Given the description of an element on the screen output the (x, y) to click on. 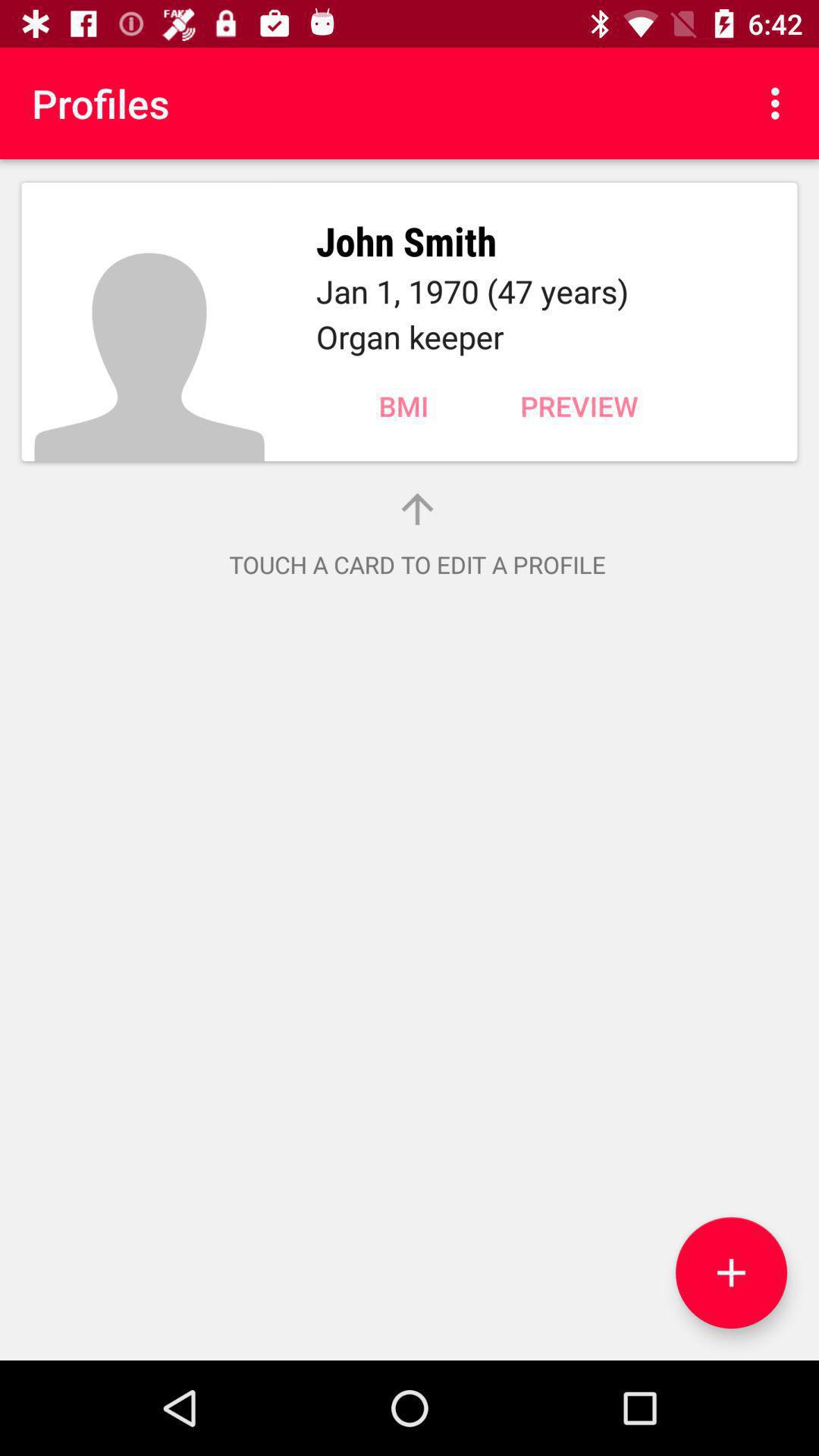
tap item to the right of bmi (578, 405)
